Given the description of an element on the screen output the (x, y) to click on. 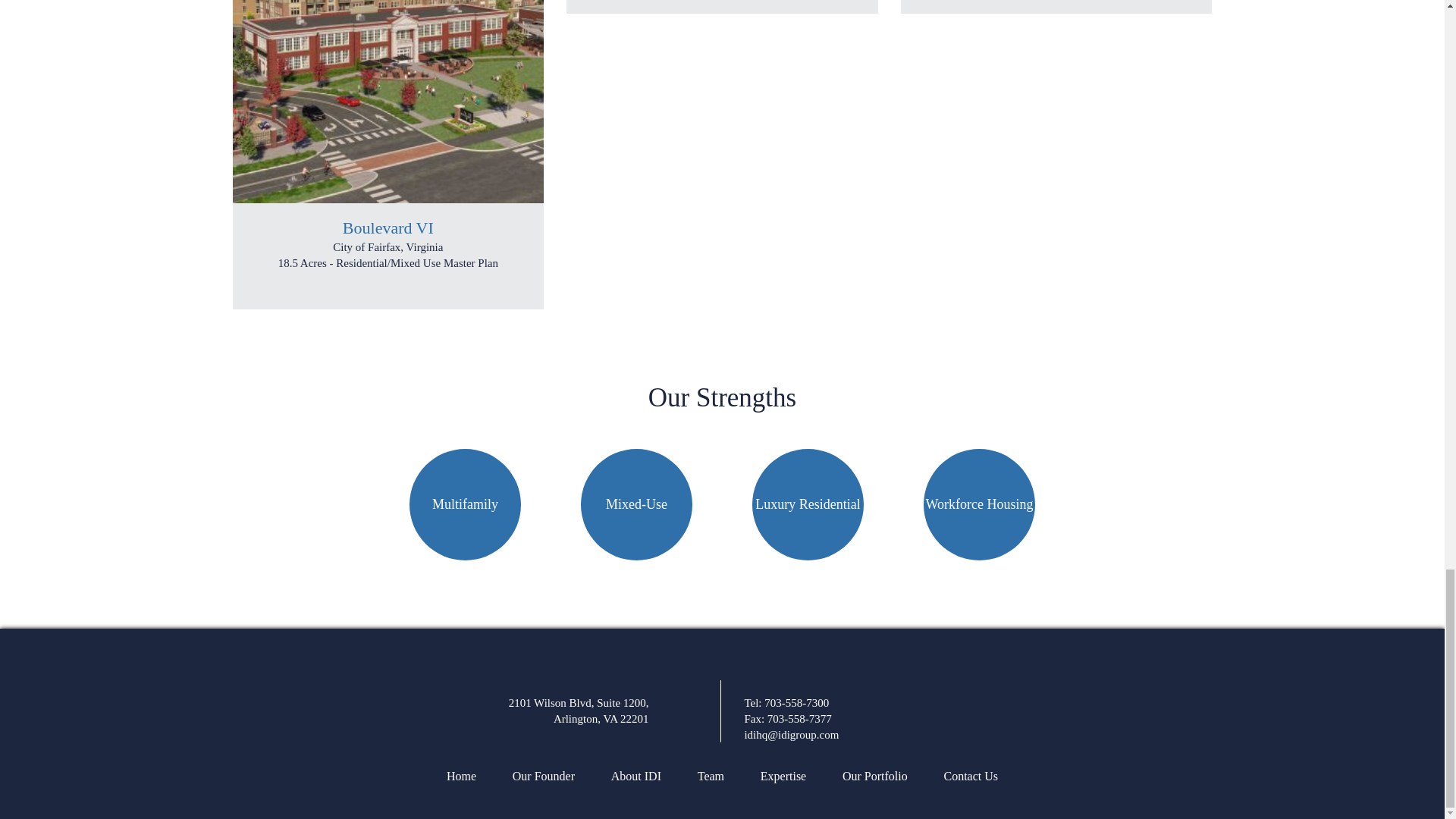
Mixed-Use (636, 504)
Multifamily (465, 504)
